Given the description of an element on the screen output the (x, y) to click on. 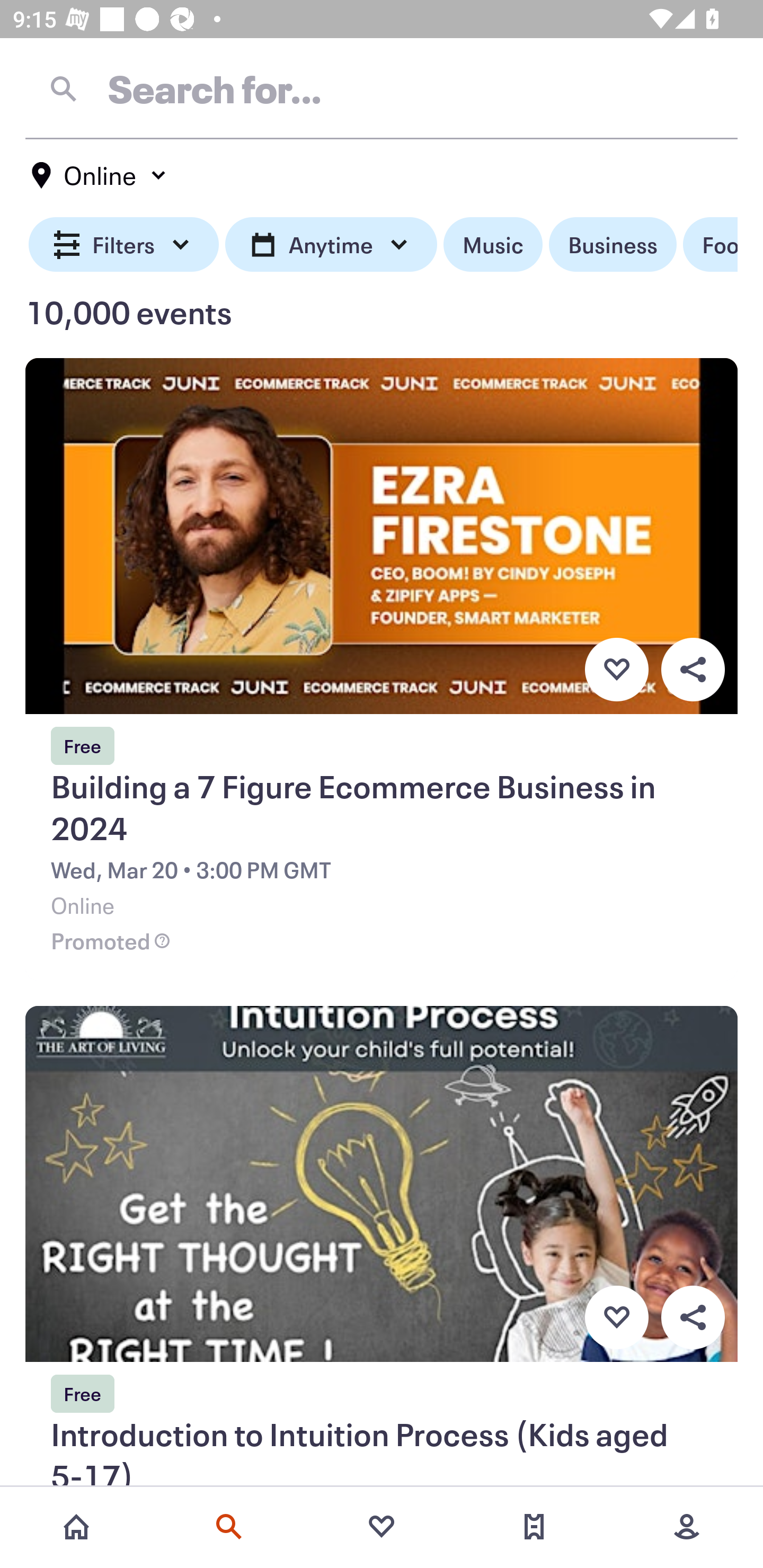
Search for… (381, 88)
Online (99, 175)
Filters (123, 244)
Anytime (331, 244)
Music (492, 244)
Business (612, 244)
Favorite button (616, 669)
Overflow menu button (692, 669)
Promoted event help (161, 940)
Favorite button (616, 1317)
Overflow menu button (692, 1317)
Home (76, 1526)
Search events (228, 1526)
Favorites (381, 1526)
Tickets (533, 1526)
More (686, 1526)
